Given the description of an element on the screen output the (x, y) to click on. 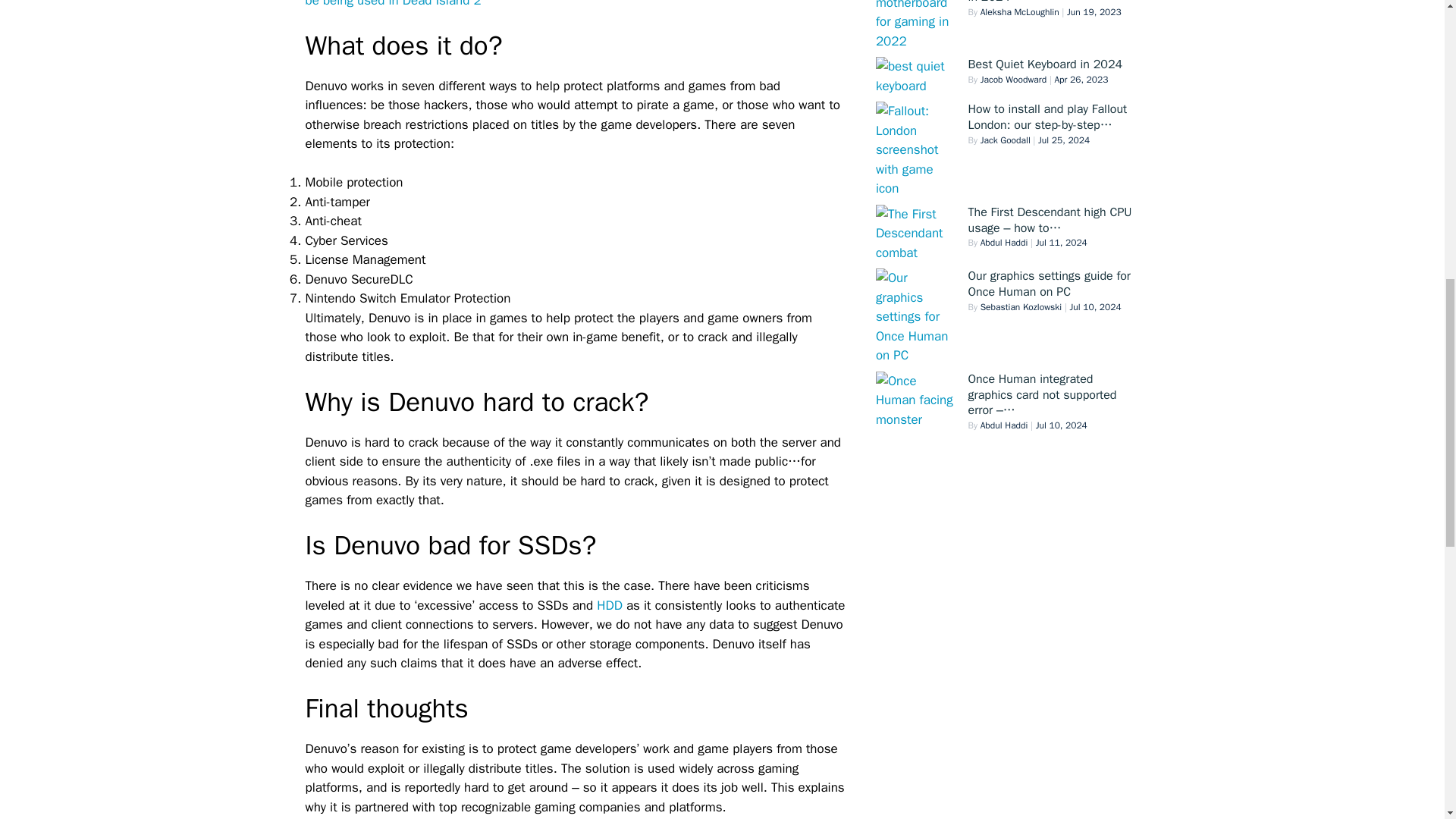
HDD (609, 605)
